Given the description of an element on the screen output the (x, y) to click on. 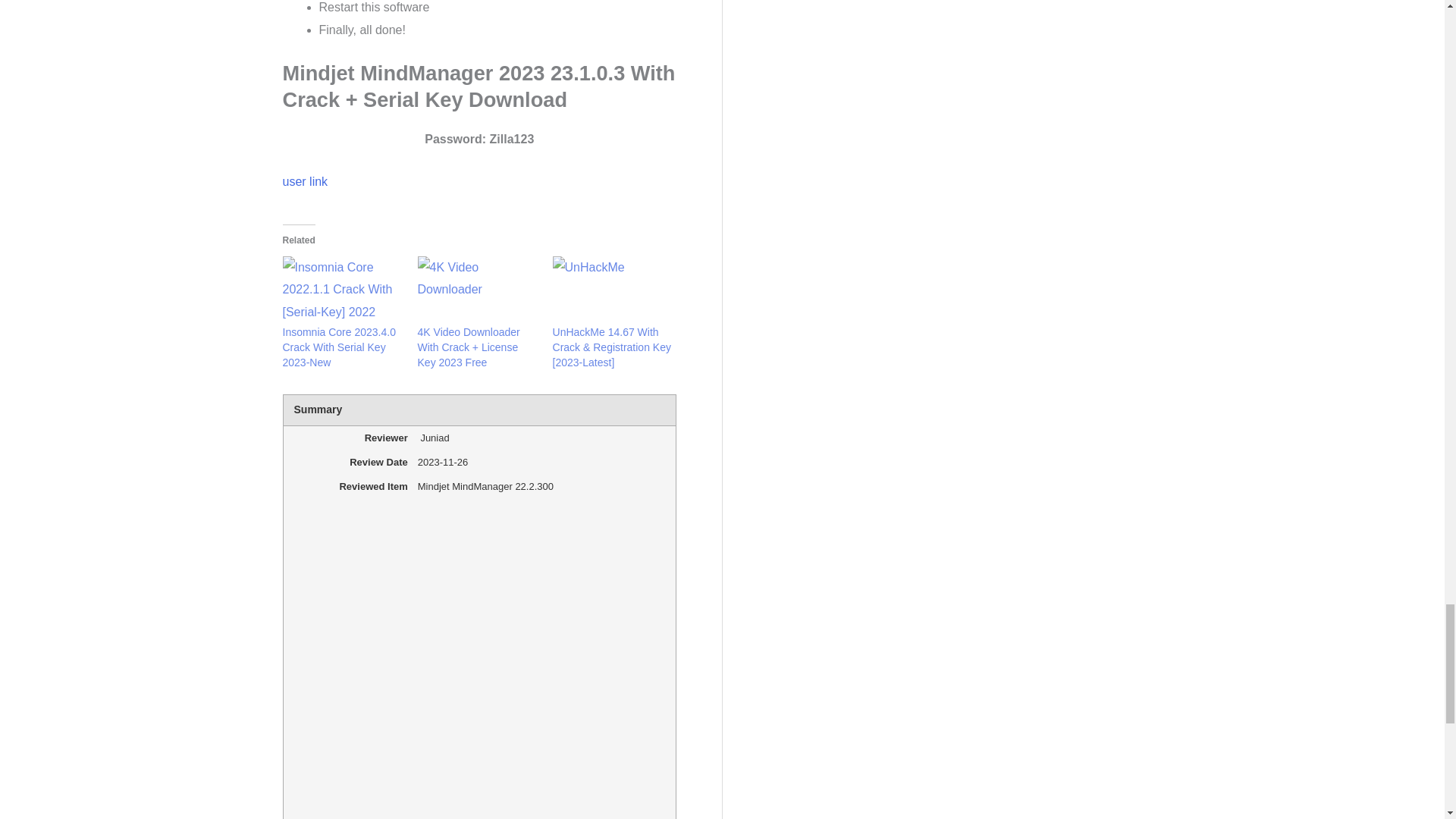
Insomnia Core 2023.4.0 Crack With Serial Key 2023-New (338, 346)
user link (304, 181)
Insomnia Core 2023.4.0 Crack With Serial Key 2023-New (341, 290)
Insomnia Core 2023.4.0 Crack With Serial Key 2023-New (338, 346)
